Given the description of an element on the screen output the (x, y) to click on. 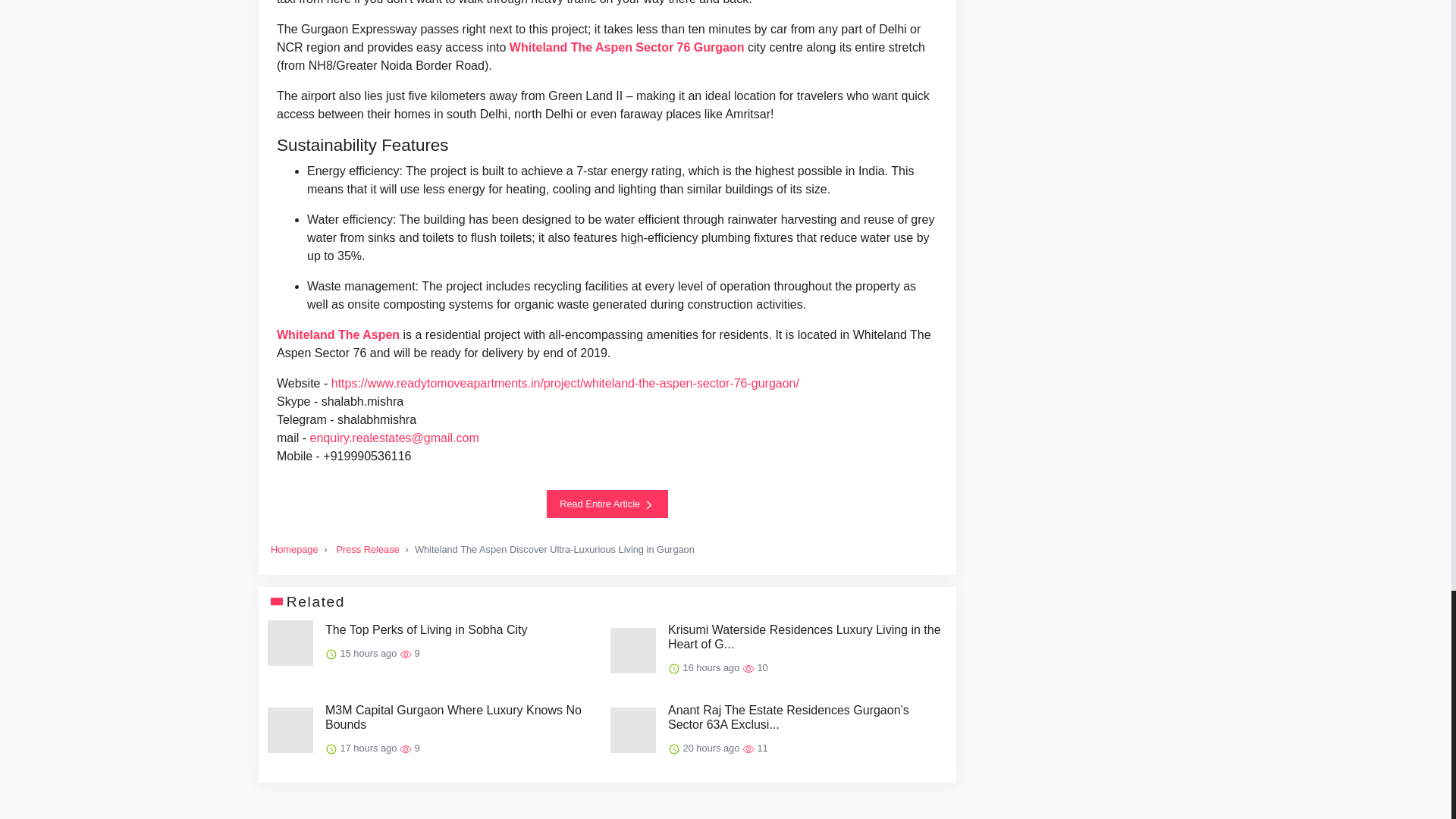
Homepage (294, 549)
The Top Perks of Living in Sobha City (425, 629)
Press Release (367, 549)
Read Entire Article (607, 502)
The Top Perks of Living in Sobha City (425, 629)
Whiteland The Aspen Sector 76 Gurgaon (626, 47)
M3M Capital Gurgaon Where Luxury Knows No Bounds (461, 717)
Whiteland The Aspen (337, 334)
M3M Capital Gurgaon Where Luxury Knows No Bounds (461, 717)
